Given the description of an element on the screen output the (x, y) to click on. 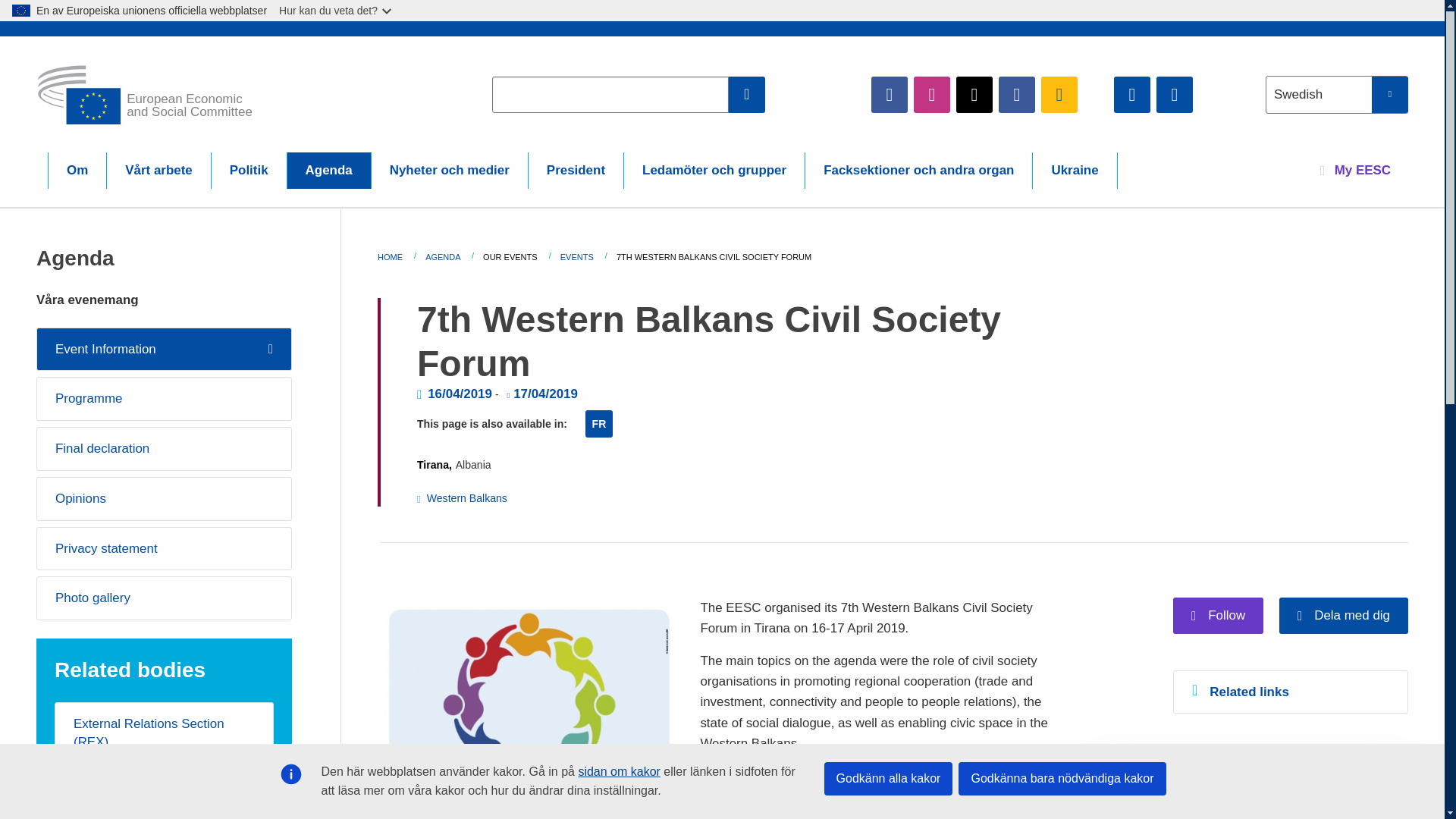
sidan om kakor (619, 771)
Search EESC Website (747, 94)
Hur kan du veta det? (335, 10)
My EESC (1355, 170)
